Given the description of an element on the screen output the (x, y) to click on. 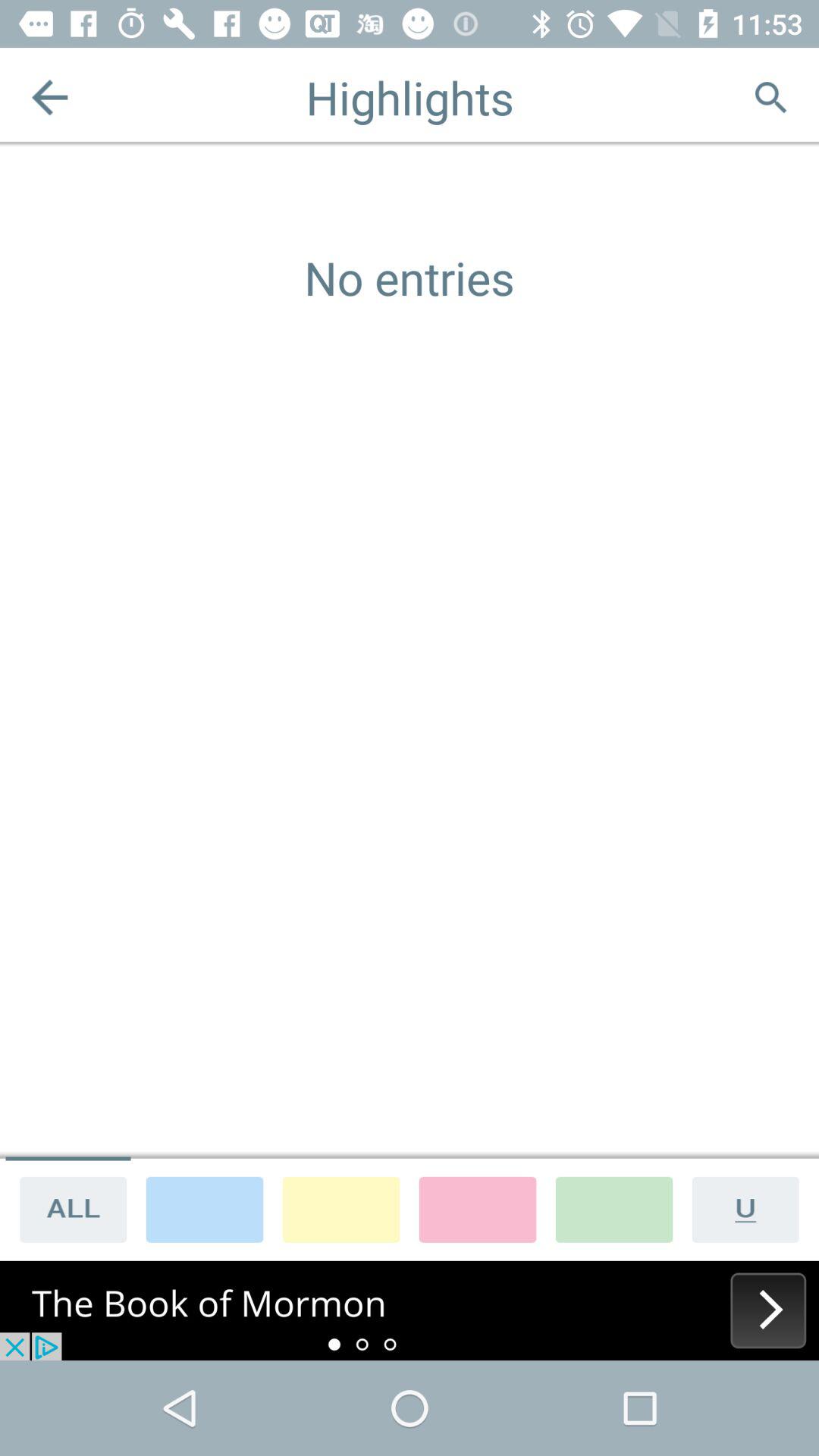
its an advertisement (409, 1310)
